Given the description of an element on the screen output the (x, y) to click on. 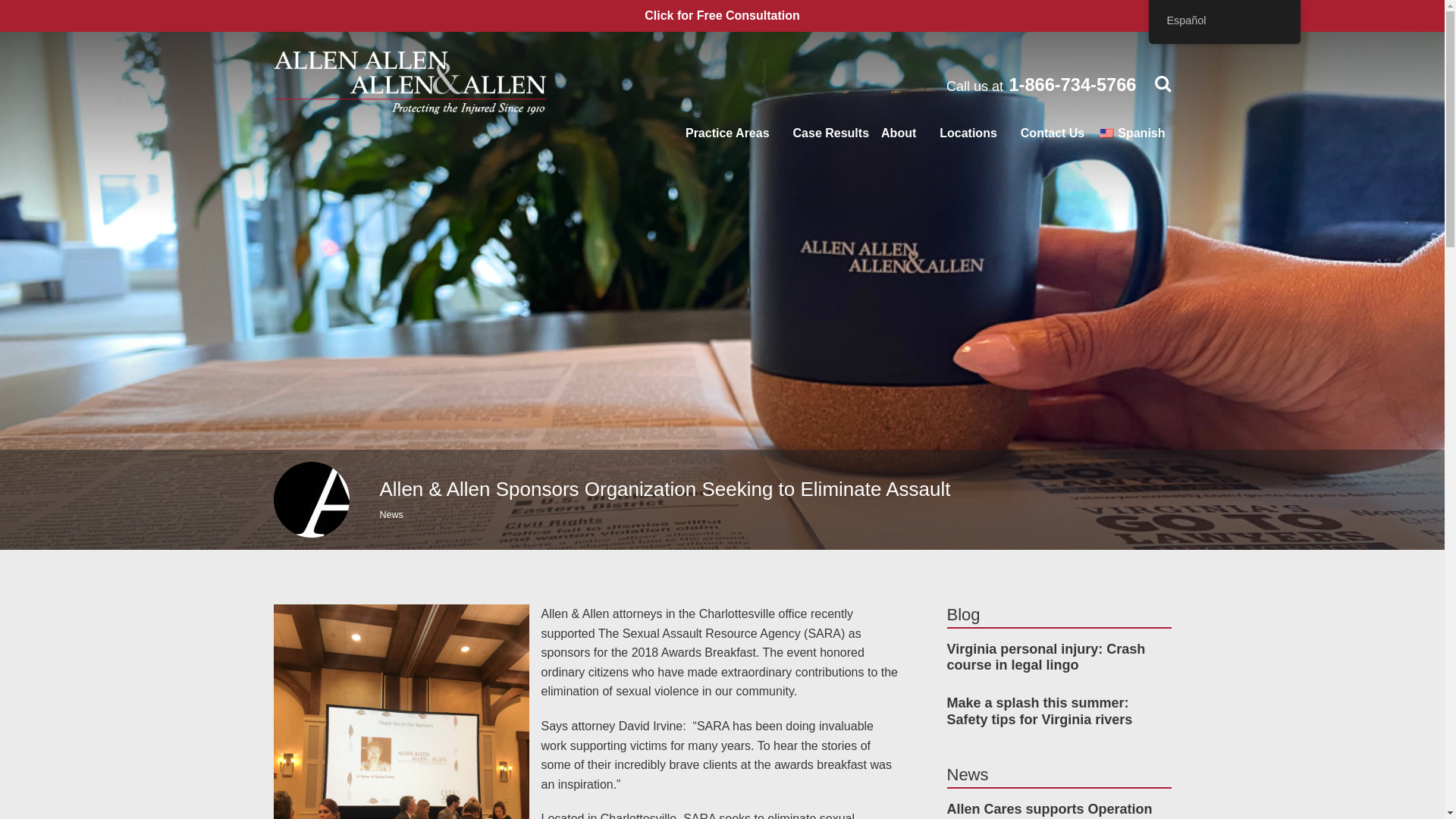
Spanish (1106, 133)
Spanish (1130, 133)
Practice Areas (727, 133)
Locations (968, 133)
Click for Free Consultation (1040, 85)
About (722, 15)
Contact Us (898, 133)
Case Results (1052, 133)
search (831, 133)
